Given the description of an element on the screen output the (x, y) to click on. 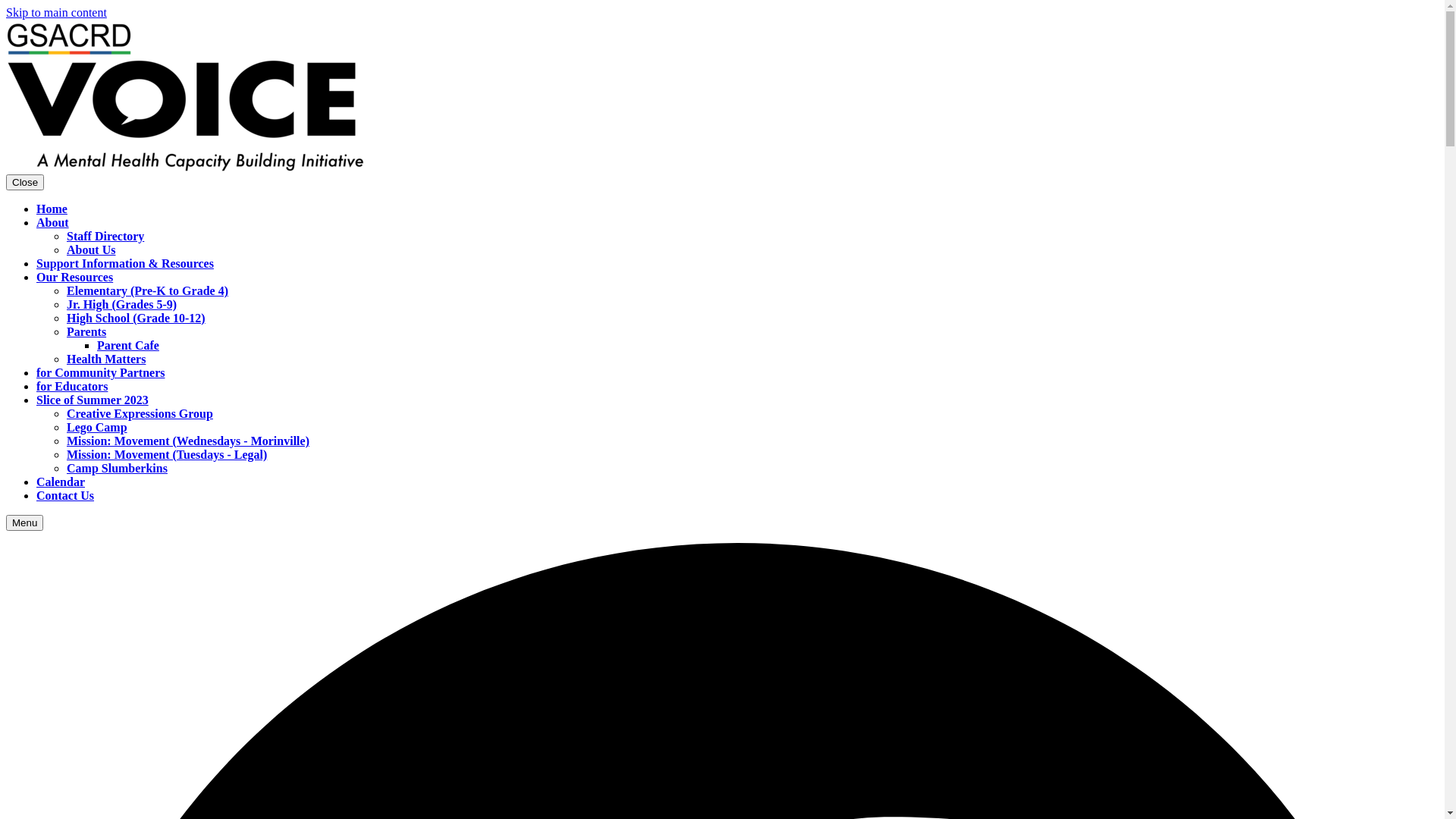
Support Information & Resources Element type: text (124, 263)
Health Matters Element type: text (105, 358)
Elementary (Pre-K to Grade 4) Element type: text (147, 290)
Menu Element type: text (24, 522)
About Us Element type: text (90, 249)
Parents Element type: text (86, 331)
About Element type: text (52, 222)
for Educators Element type: text (71, 385)
Contact Us Element type: text (65, 495)
Slice of Summer 2023 Element type: text (92, 399)
for Community Partners Element type: text (100, 372)
Creative Expressions Group Element type: text (139, 413)
Close Element type: text (24, 182)
Lego Camp Element type: text (96, 426)
Camp Slumberkins Element type: text (116, 467)
Calendar Element type: text (60, 481)
Parent Cafe Element type: text (128, 344)
Mission: Movement (Tuesdays - Legal) Element type: text (166, 454)
Mission: Movement (Wednesdays - Morinville) Element type: text (187, 440)
Staff Directory Element type: text (105, 235)
Jr. High (Grades 5-9) Element type: text (121, 304)
Our Resources Element type: text (74, 276)
home Element type: hover (185, 166)
Home Element type: text (51, 208)
High School (Grade 10-12) Element type: text (135, 317)
Skip to main content Element type: text (56, 12)
